Given the description of an element on the screen output the (x, y) to click on. 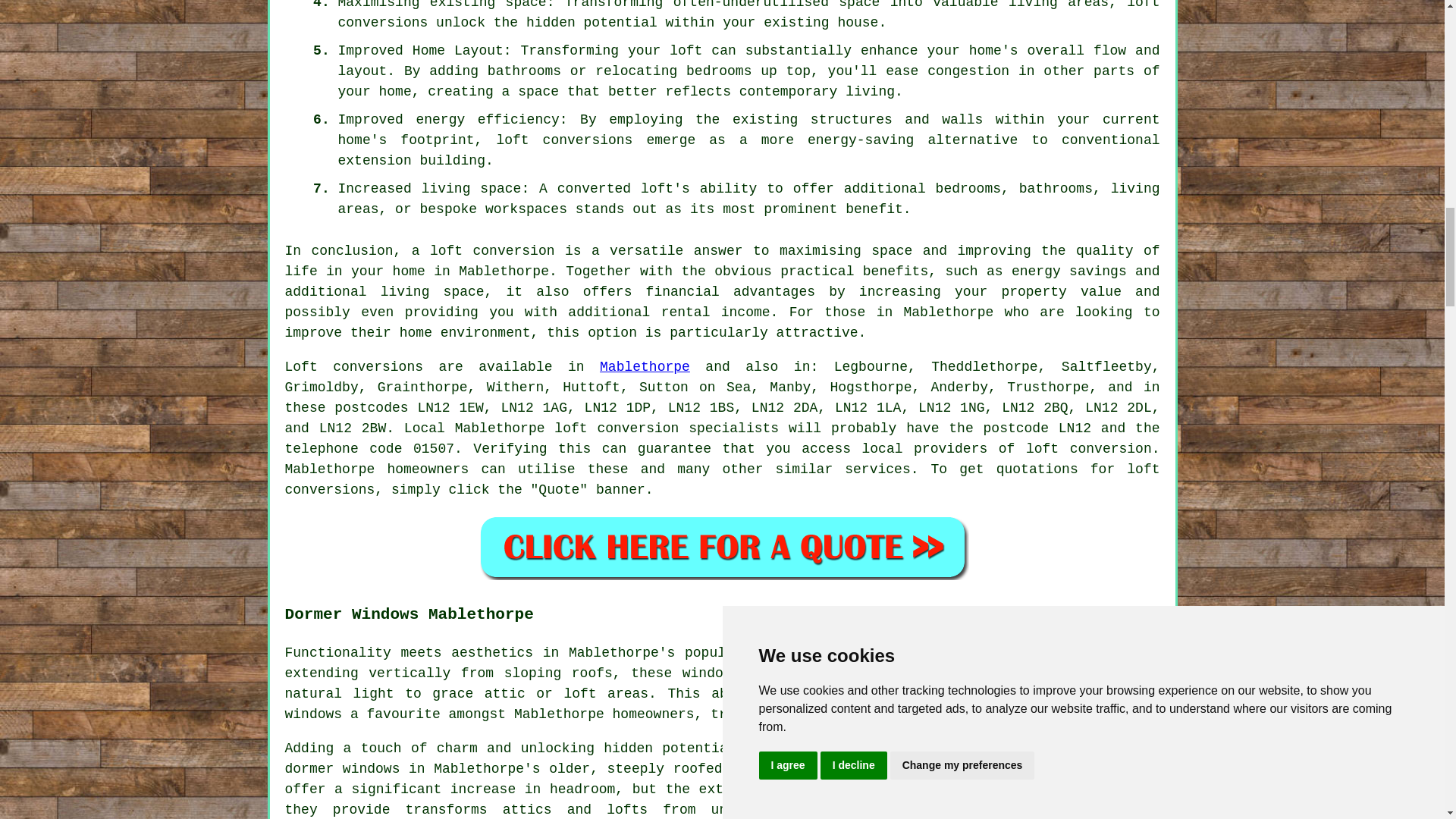
Loft conversions (354, 366)
loft conversions (722, 479)
loft conversion (491, 250)
Dormer Windows Mablethorpe (1046, 778)
loft conversions (563, 140)
